Given the description of an element on the screen output the (x, y) to click on. 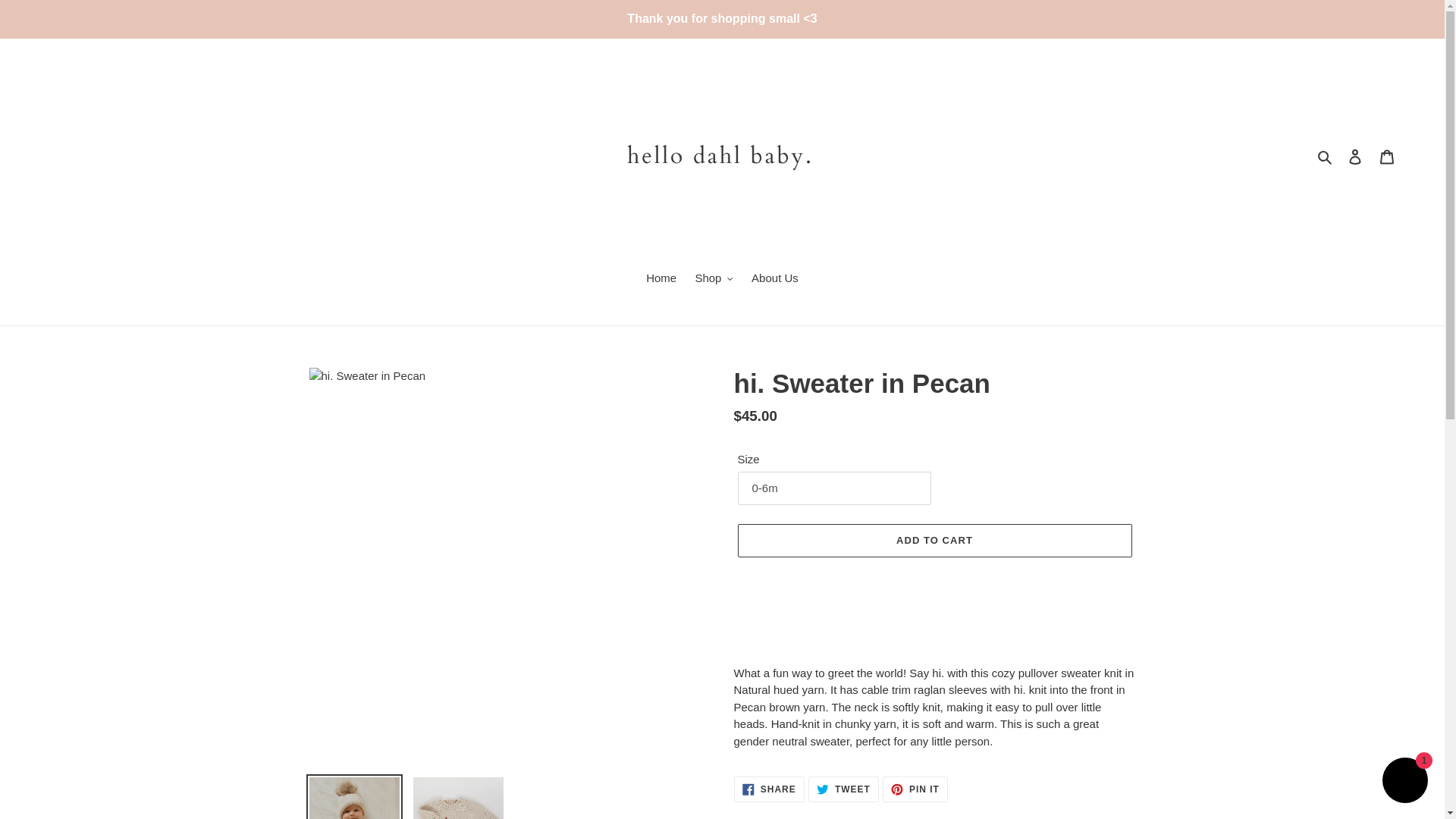
Shopify online store chat (1404, 781)
Cart (1387, 156)
Shop (714, 279)
Search (1326, 156)
Log in (1355, 156)
Home (661, 279)
About Us (775, 279)
